Given the description of an element on the screen output the (x, y) to click on. 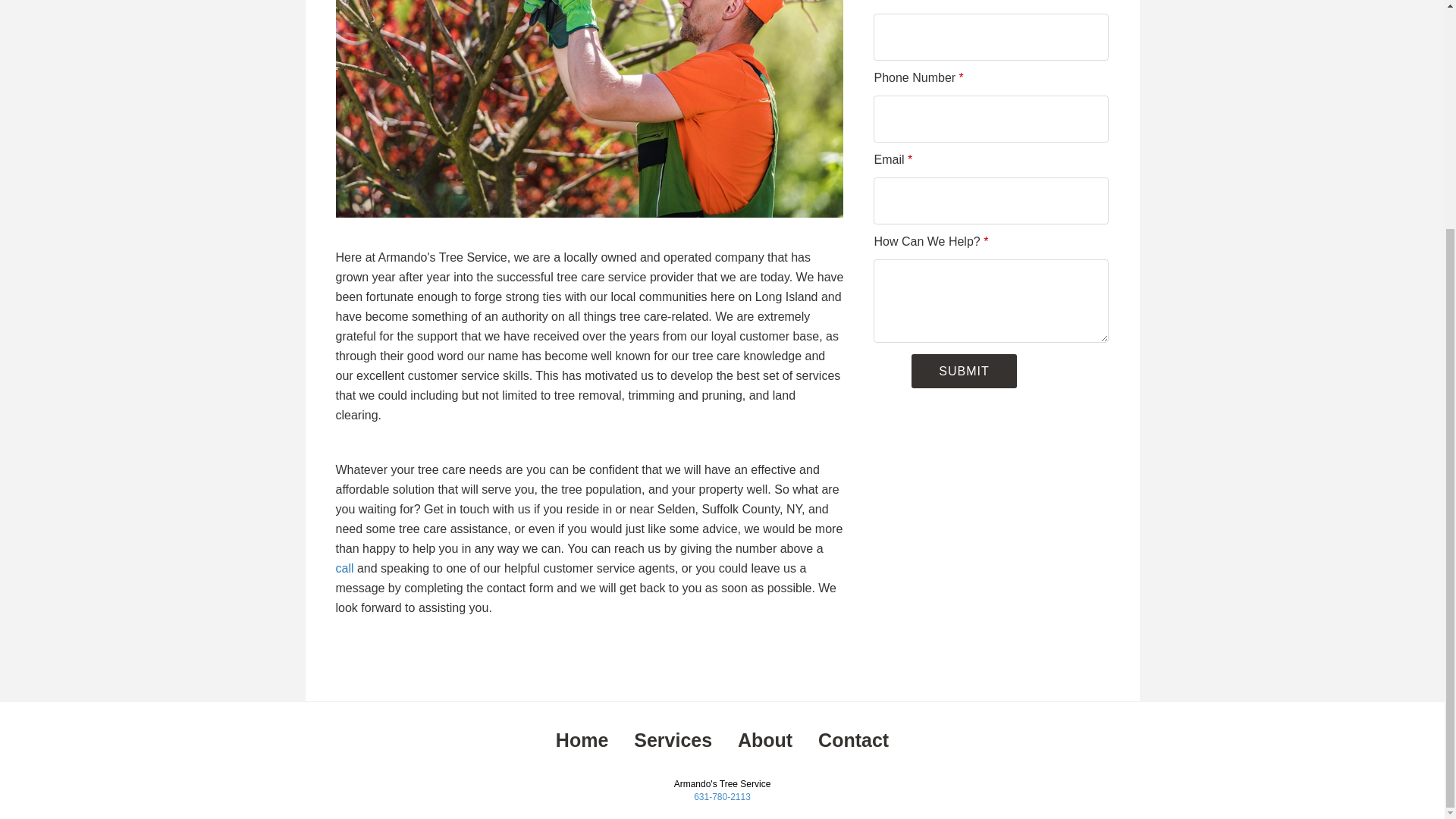
631-780-2113 (722, 796)
Contact (853, 740)
Home (582, 740)
Submit (963, 370)
Submit (963, 370)
About (765, 740)
Services (672, 740)
call (343, 567)
